Given the description of an element on the screen output the (x, y) to click on. 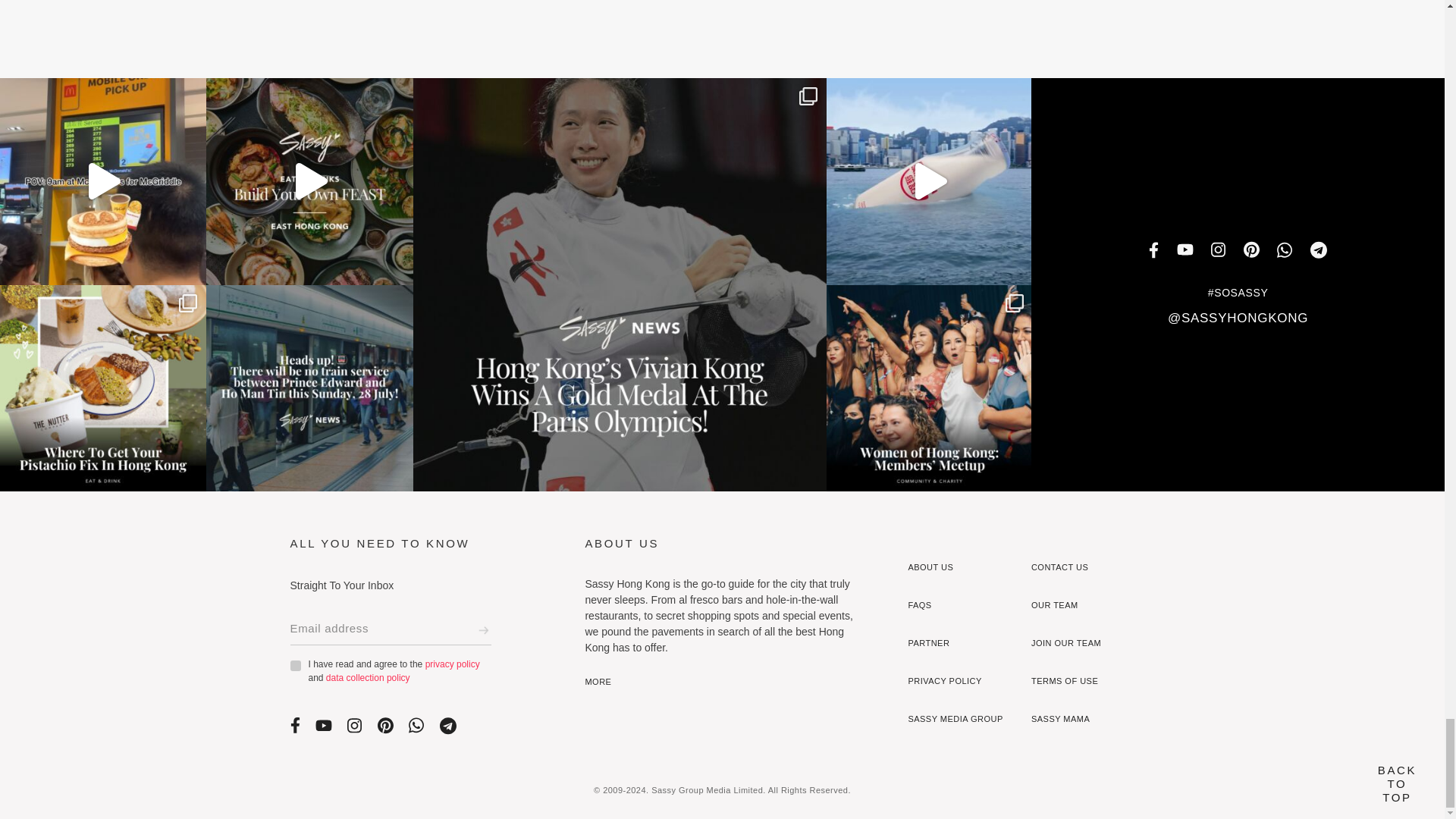
Sign Up (483, 629)
on (294, 665)
